Given the description of an element on the screen output the (x, y) to click on. 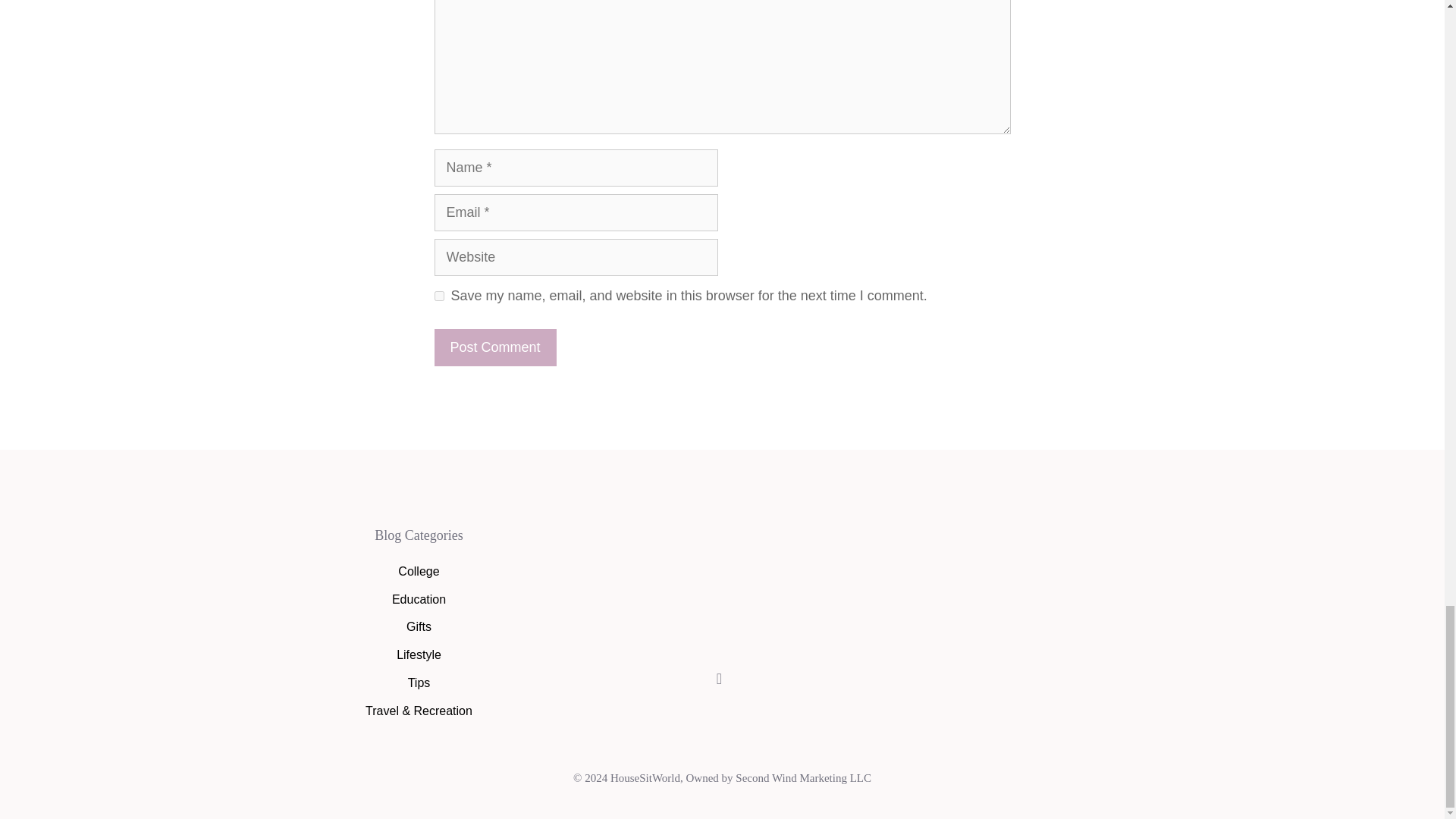
Lifestyle (418, 654)
Instagram (719, 678)
Gifts (418, 626)
Education (418, 599)
Tips (418, 682)
Post Comment (494, 347)
yes (438, 296)
Post Comment (494, 347)
College (418, 571)
